Given the description of an element on the screen output the (x, y) to click on. 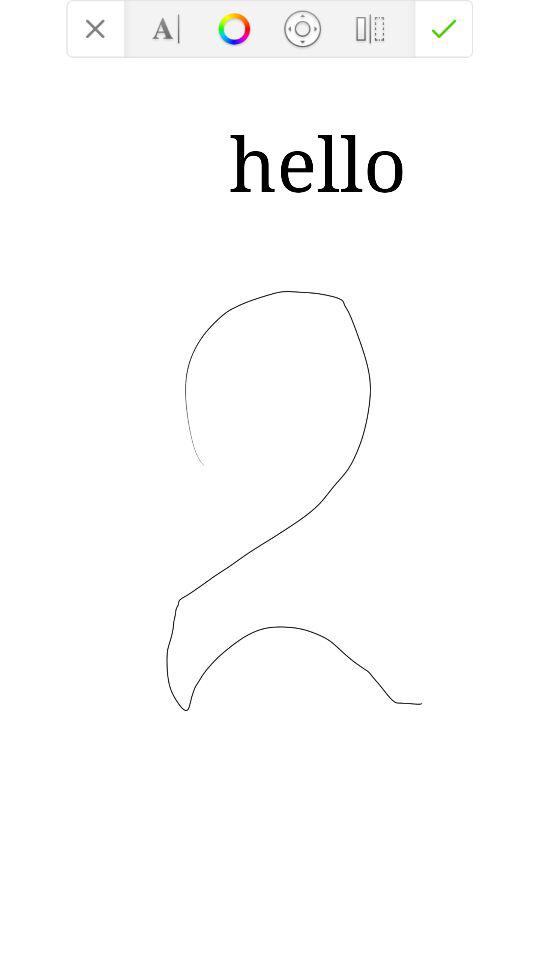
change font (166, 28)
